Given the description of an element on the screen output the (x, y) to click on. 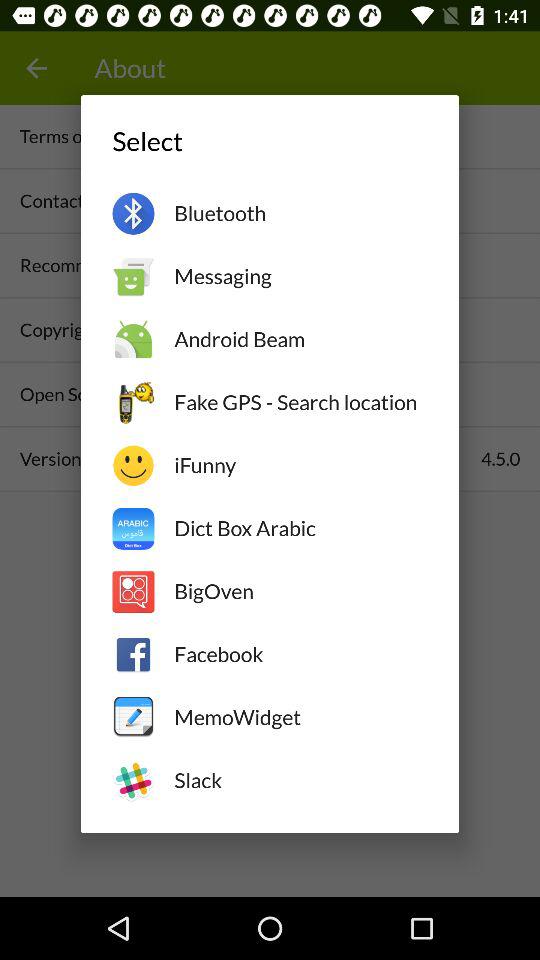
click the ifunny icon (300, 465)
